Given the description of an element on the screen output the (x, y) to click on. 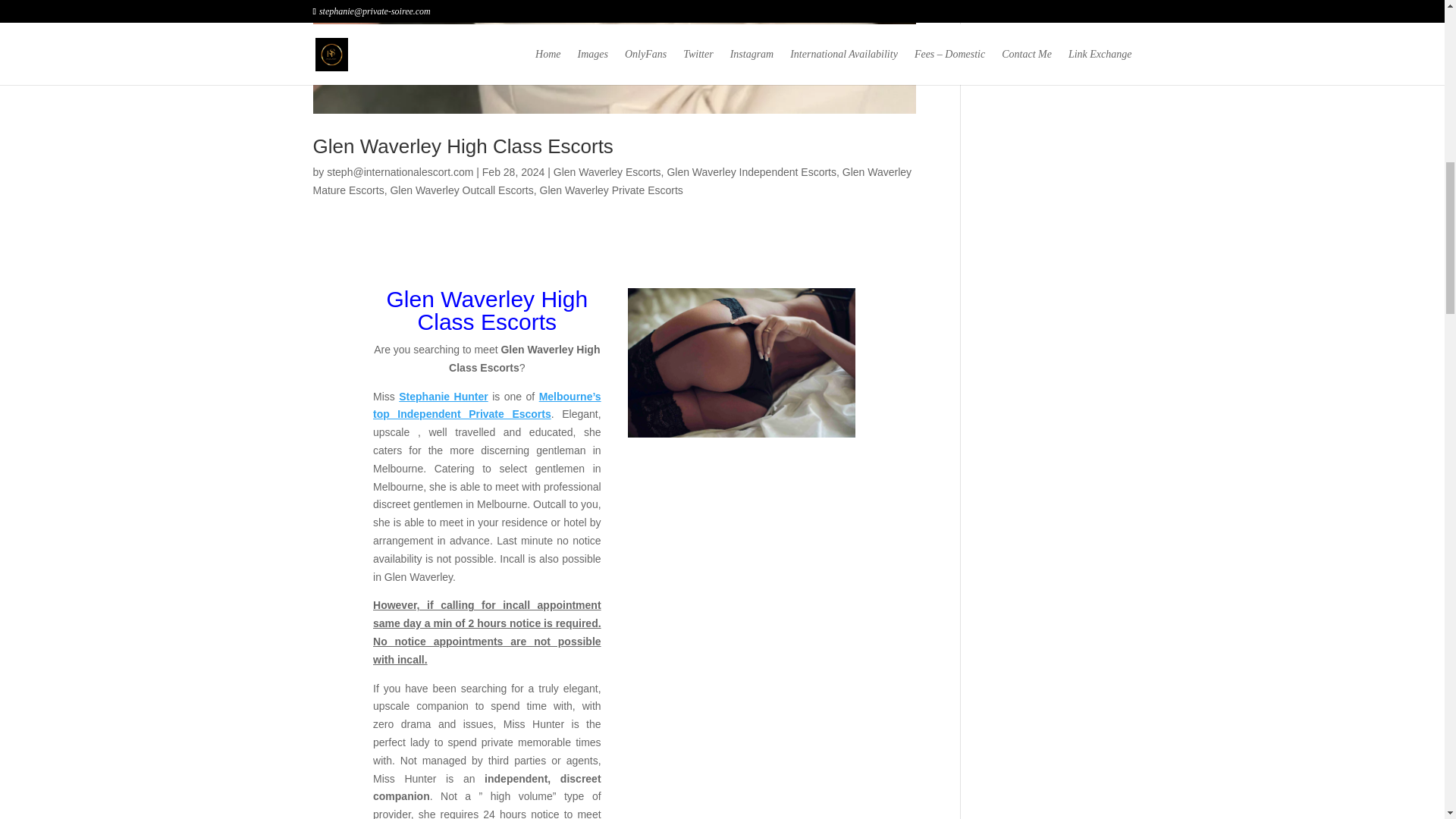
Glen Waverley Private Escorts (611, 190)
Stephanie Hunter (442, 396)
Melbourne's Top Private Independent Escorts (486, 405)
Glen Waverley Outcall Escorts (461, 190)
Glen Waverley Independent Escorts (750, 172)
Glen Waverley Escorts (607, 172)
Glen Waverley High Class Escorts (741, 362)
Stephanie Hunter (442, 396)
Glen Waverley High Class Escorts (462, 146)
Glen Waverley Mature Escorts (612, 181)
